Given the description of an element on the screen output the (x, y) to click on. 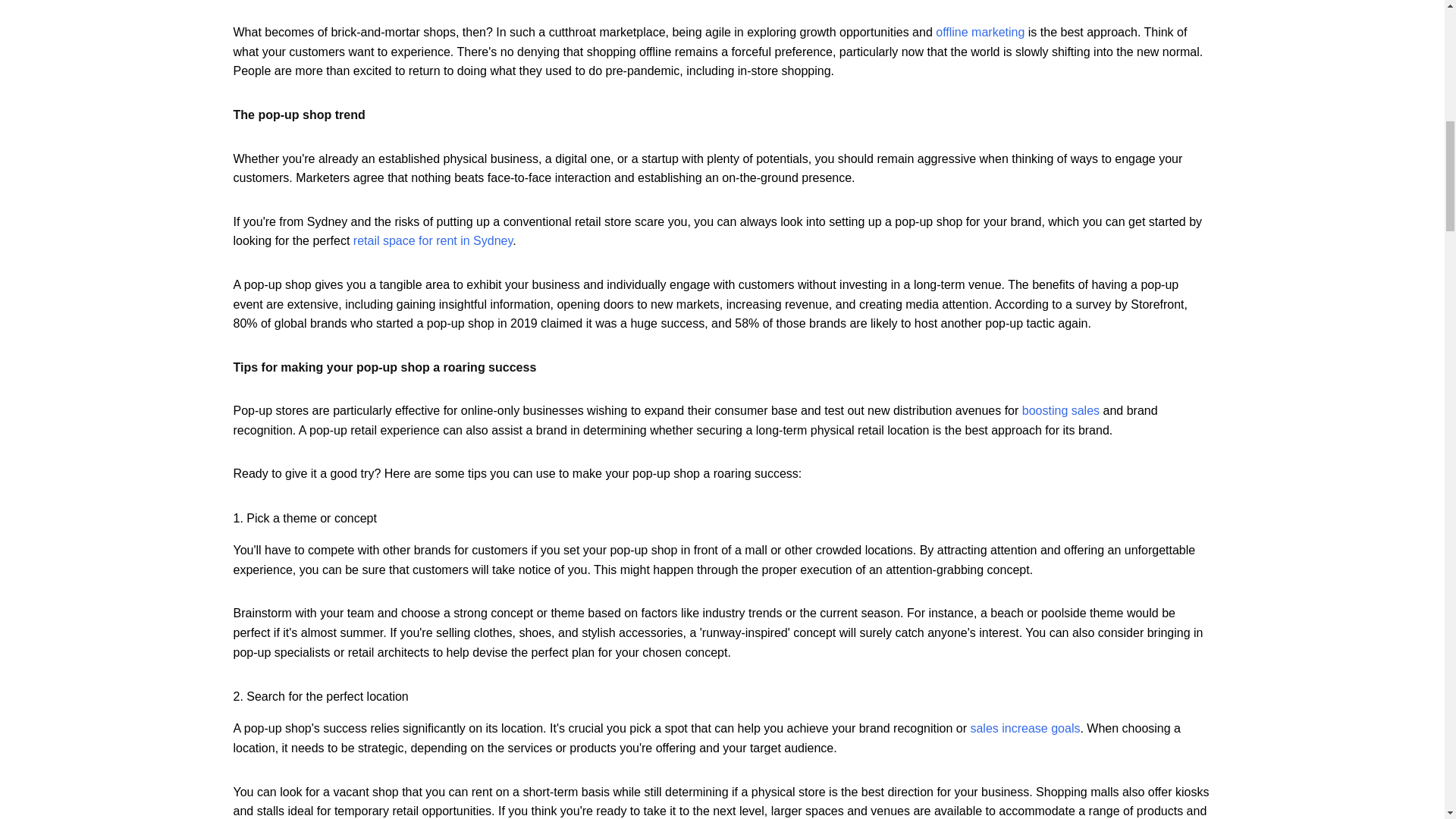
boosting sales (1060, 410)
sales increase goals (1024, 727)
offline marketing (980, 31)
retail space for rent in Sydney (432, 240)
